Given the description of an element on the screen output the (x, y) to click on. 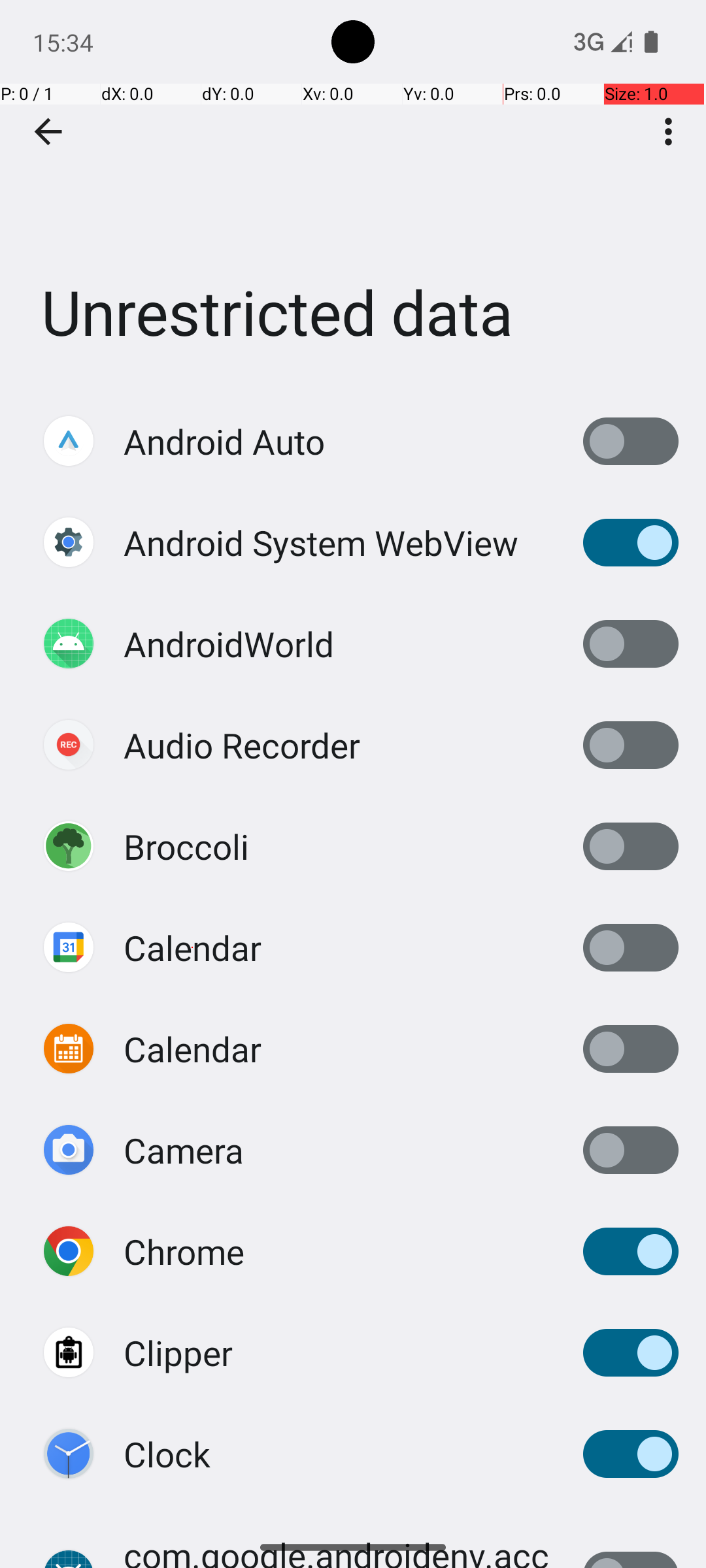
Unrestricted data Element type: android.widget.FrameLayout (353, 195)
Android Auto Element type: android.widget.TextView (223, 441)
Android System WebView Element type: android.widget.TextView (320, 542)
AndroidWorld Element type: android.widget.TextView (228, 643)
Camera Element type: android.widget.TextView (183, 1150)
Clipper Element type: android.widget.TextView (177, 1352)
